Given the description of an element on the screen output the (x, y) to click on. 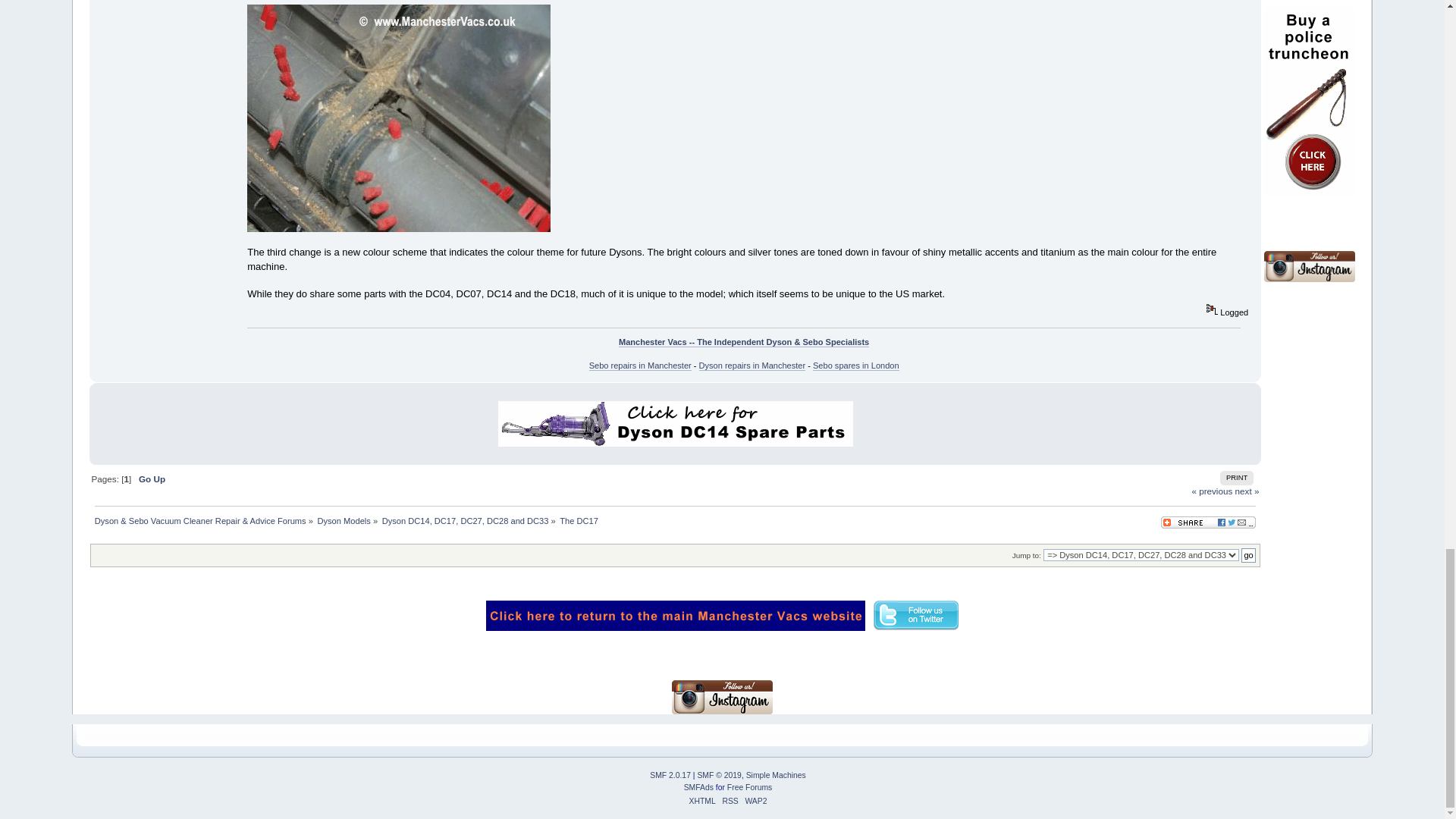
Simple Machines (775, 775)
Simple Machines Forum (669, 775)
License (719, 775)
Dyson Spares, Parts, Advice (675, 615)
go (1248, 554)
Instagram (1309, 265)
Dyson repairs in Manchester (752, 366)
Follow us on Twitter (915, 615)
DC14 Spare Parts (674, 423)
Sebo repairs in Manchester (640, 366)
Sebo spares in London (855, 366)
